Given the description of an element on the screen output the (x, y) to click on. 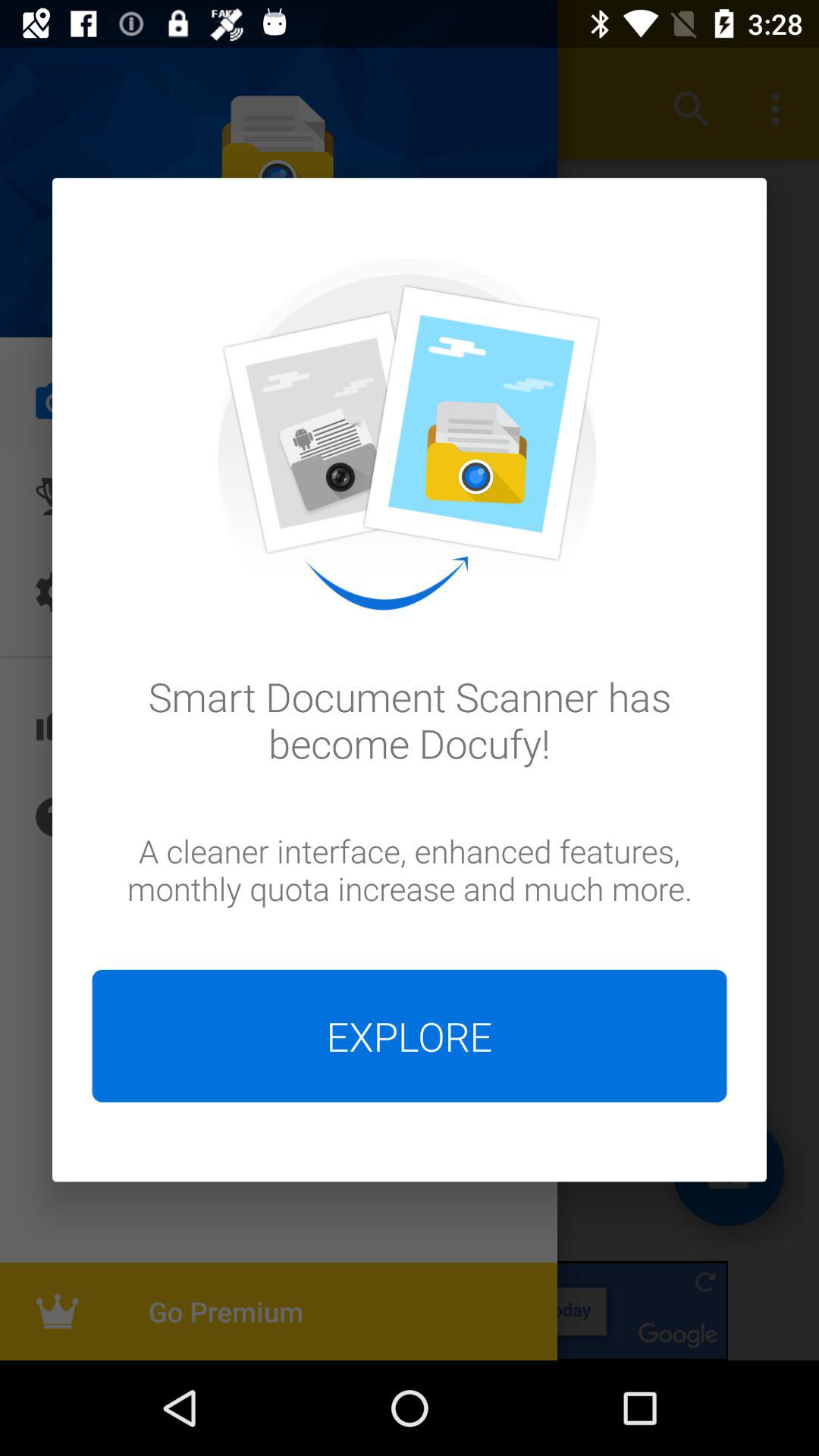
click icon below a cleaner interface (409, 1035)
